Given the description of an element on the screen output the (x, y) to click on. 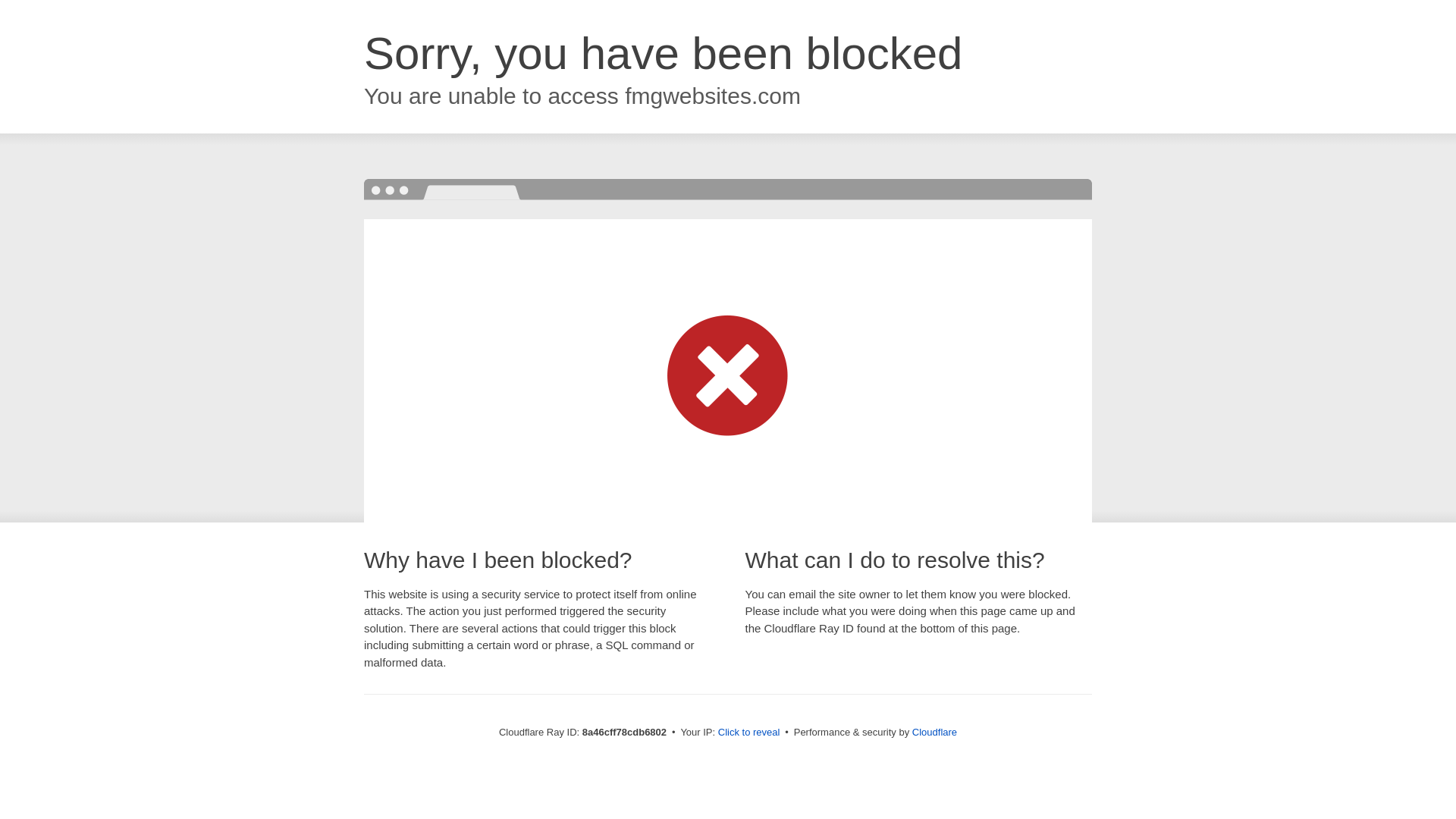
Cloudflare (934, 731)
Click to reveal (748, 732)
